Given the description of an element on the screen output the (x, y) to click on. 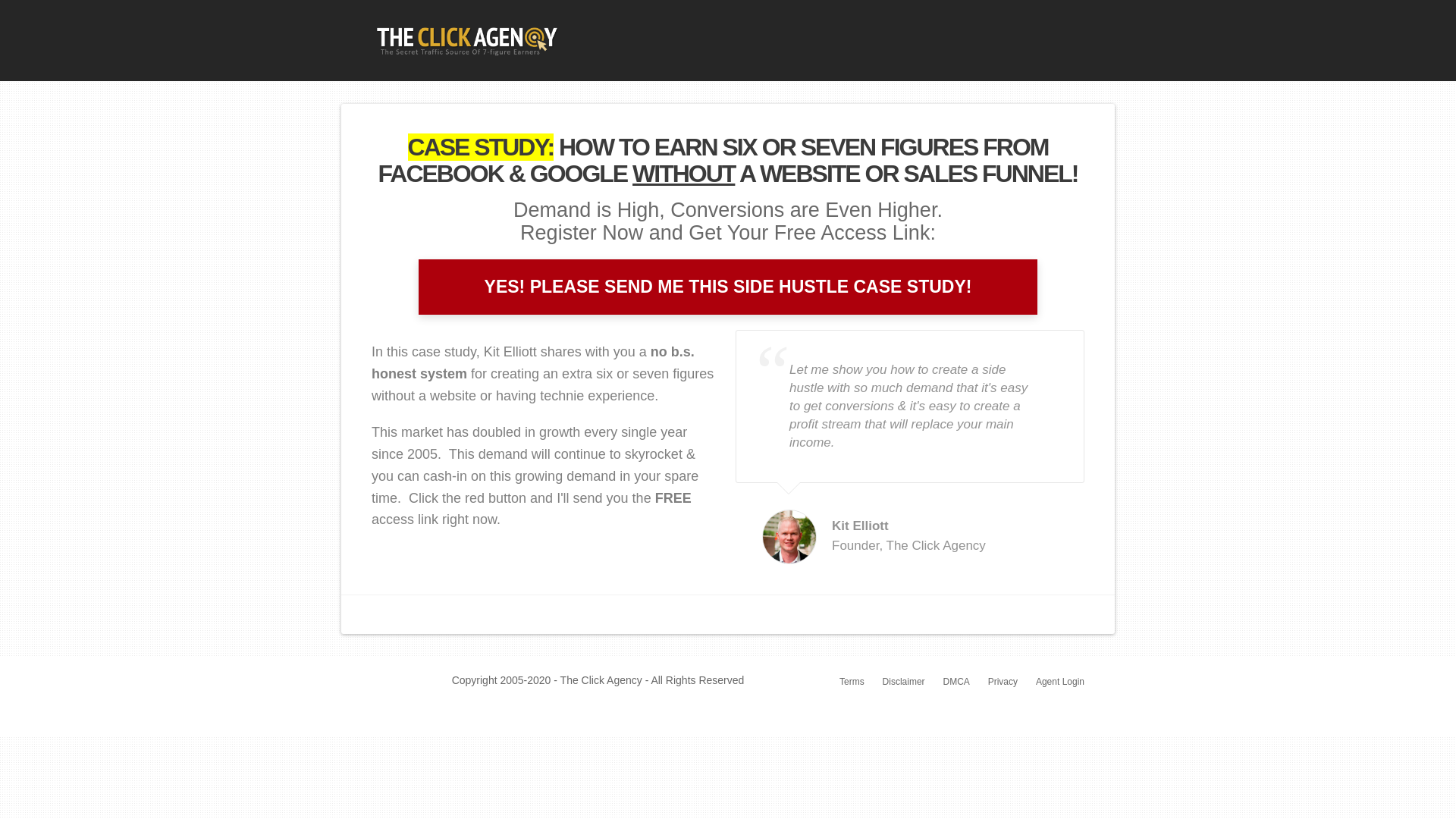
Agent Login (1059, 681)
Privacy (1002, 681)
YES! PLEASE SEND ME THIS SIDE HUSTLE CASE STUDY! (728, 286)
The Click Agency (465, 37)
Disclaimer (903, 681)
DMCA (955, 681)
Terms (852, 681)
